Given the description of an element on the screen output the (x, y) to click on. 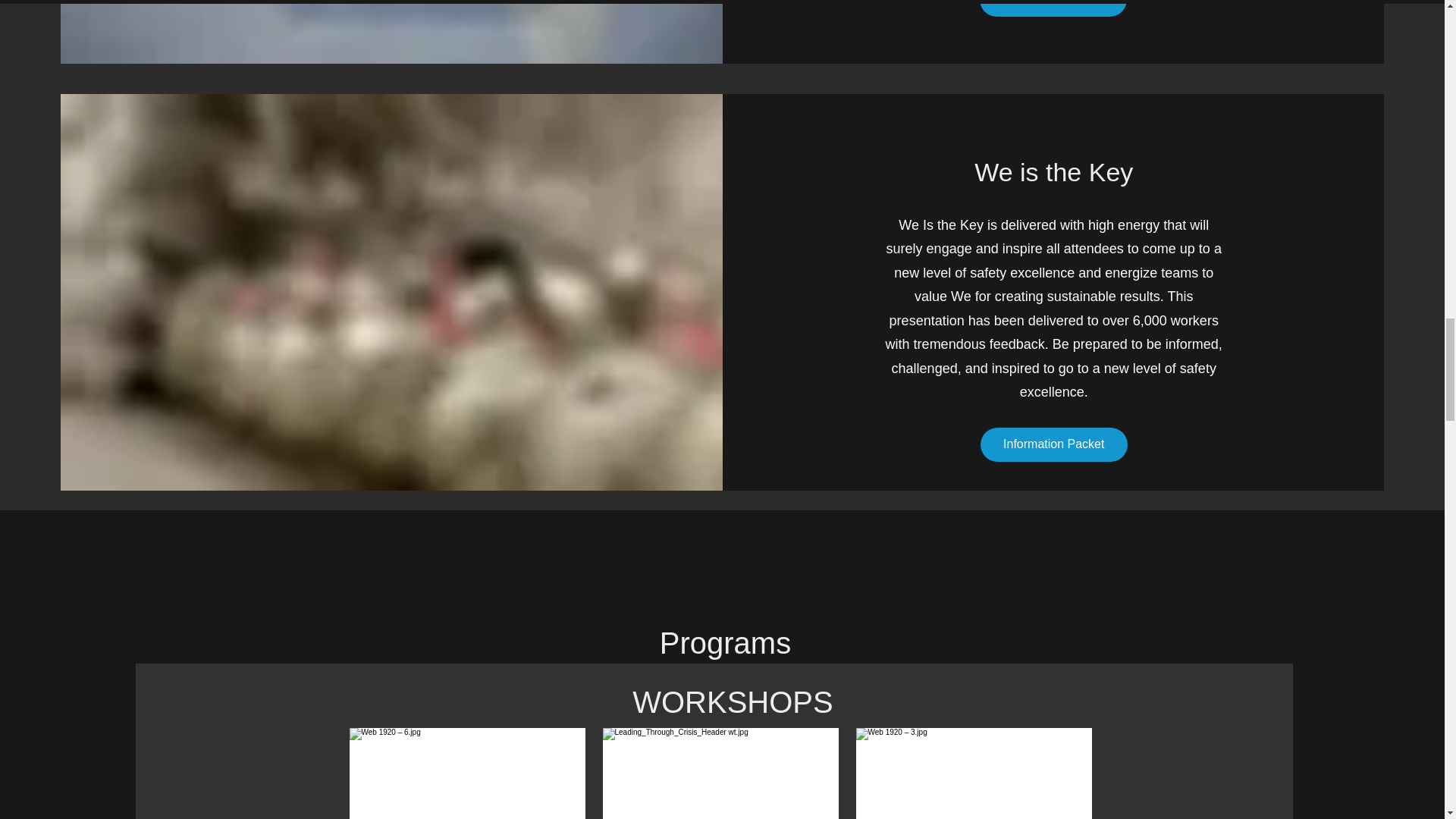
Information Packet (1052, 444)
Information Packet (1052, 8)
